Given the description of an element on the screen output the (x, y) to click on. 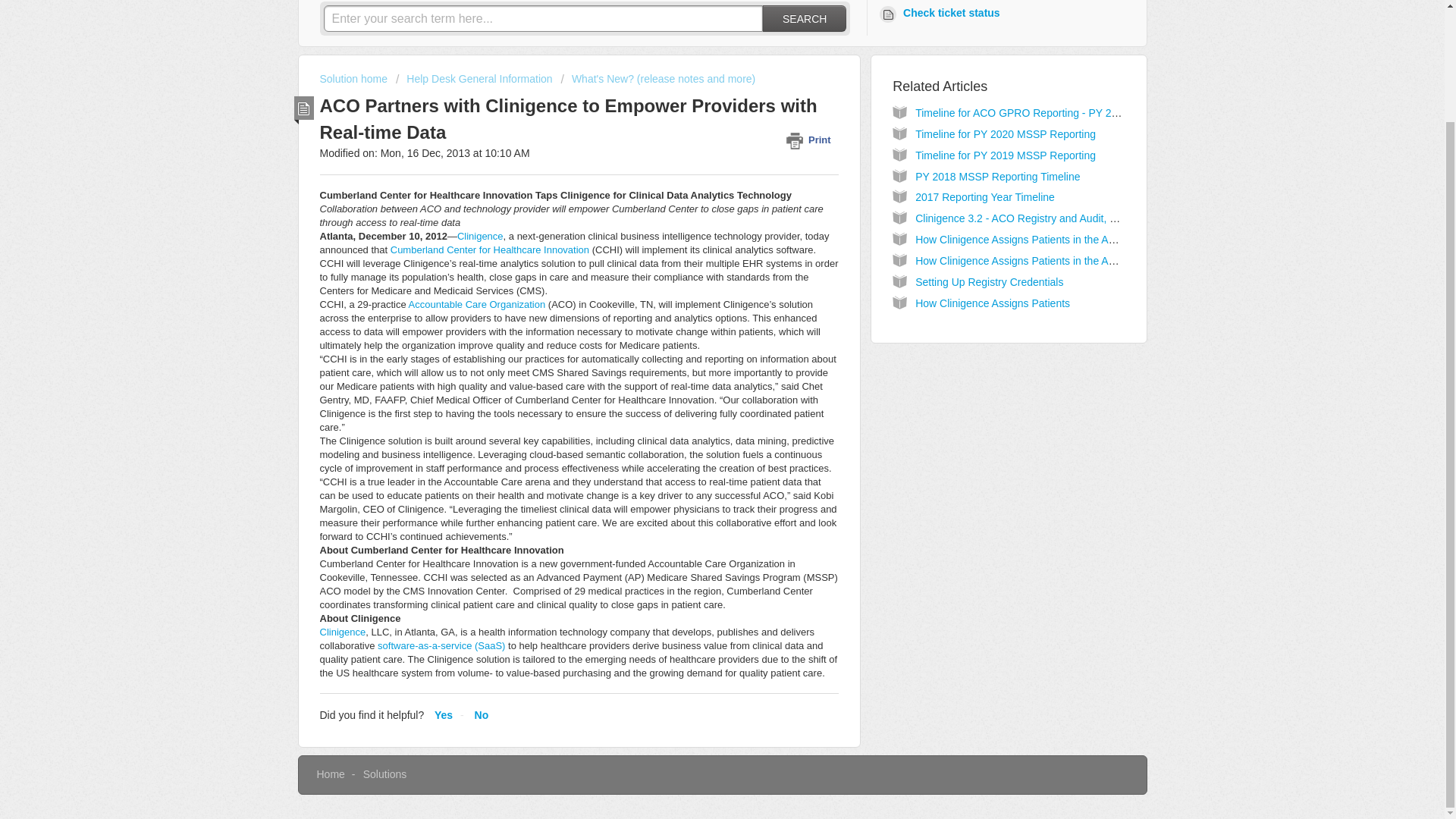
Login (890, 1)
Clinigence (343, 632)
Timeline for PY 2019 MSSP Reporting (1005, 155)
Timeline for PY 2020 MSSP Reporting (1005, 133)
Home (331, 774)
How Clinigence Assigns Patients (992, 303)
Check ticket status (941, 14)
How Clinigence Assigns Patients in the ACO Registry (1040, 239)
2017 Reporting Year Timeline (984, 196)
Check ticket status (941, 14)
Print this Article (812, 139)
Setting Up Registry Credentials (988, 282)
Cumberland Center for Healthcare Innovation (489, 249)
SEARCH (803, 17)
